Given the description of an element on the screen output the (x, y) to click on. 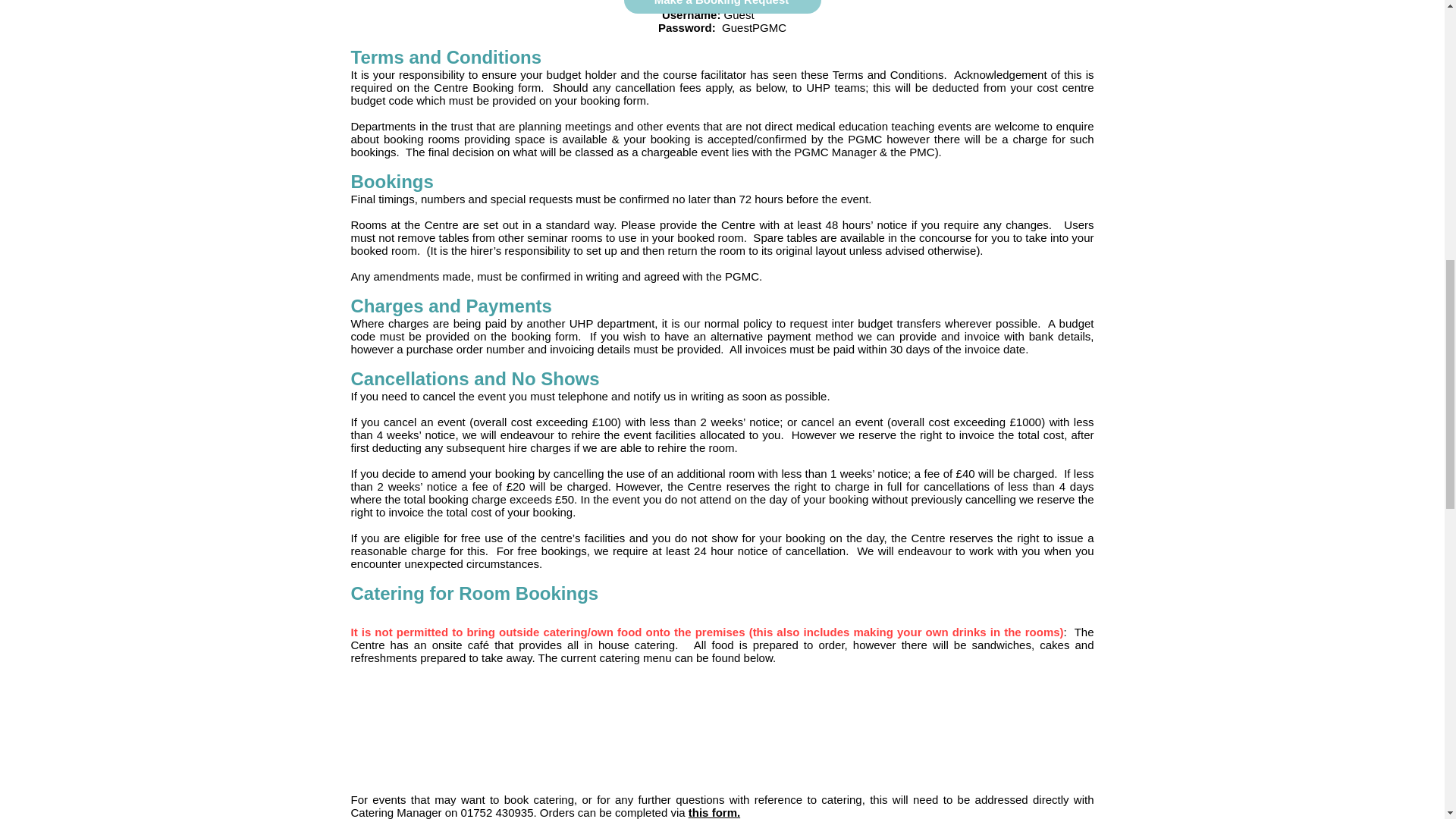
Make a Booking Request (722, 6)
this form. (713, 812)
